Given the description of an element on the screen output the (x, y) to click on. 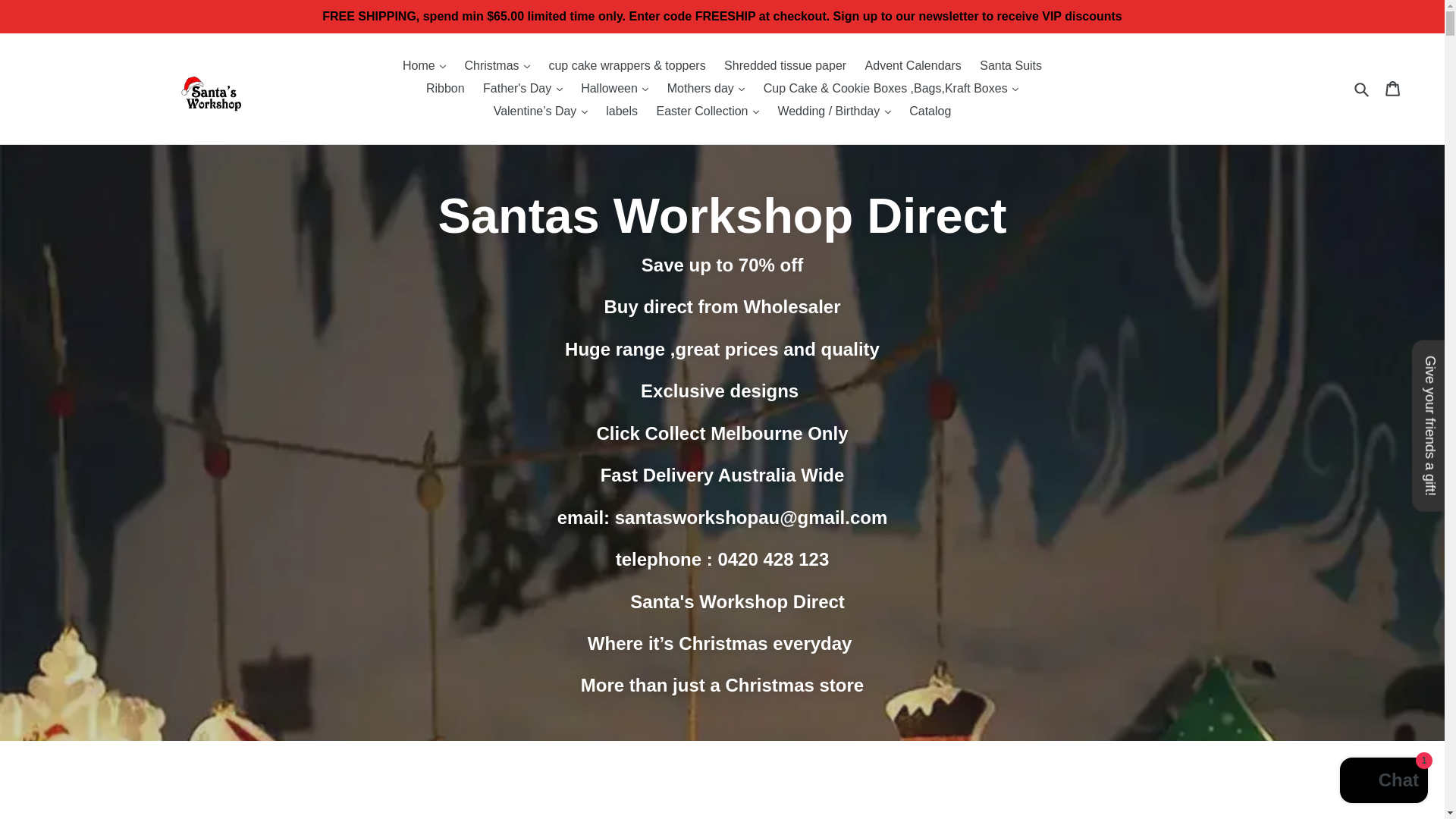
Ribbon (445, 87)
Shredded tissue paper (784, 65)
Advent Calendars (913, 65)
Santa Suits (1010, 65)
